Given the description of an element on the screen output the (x, y) to click on. 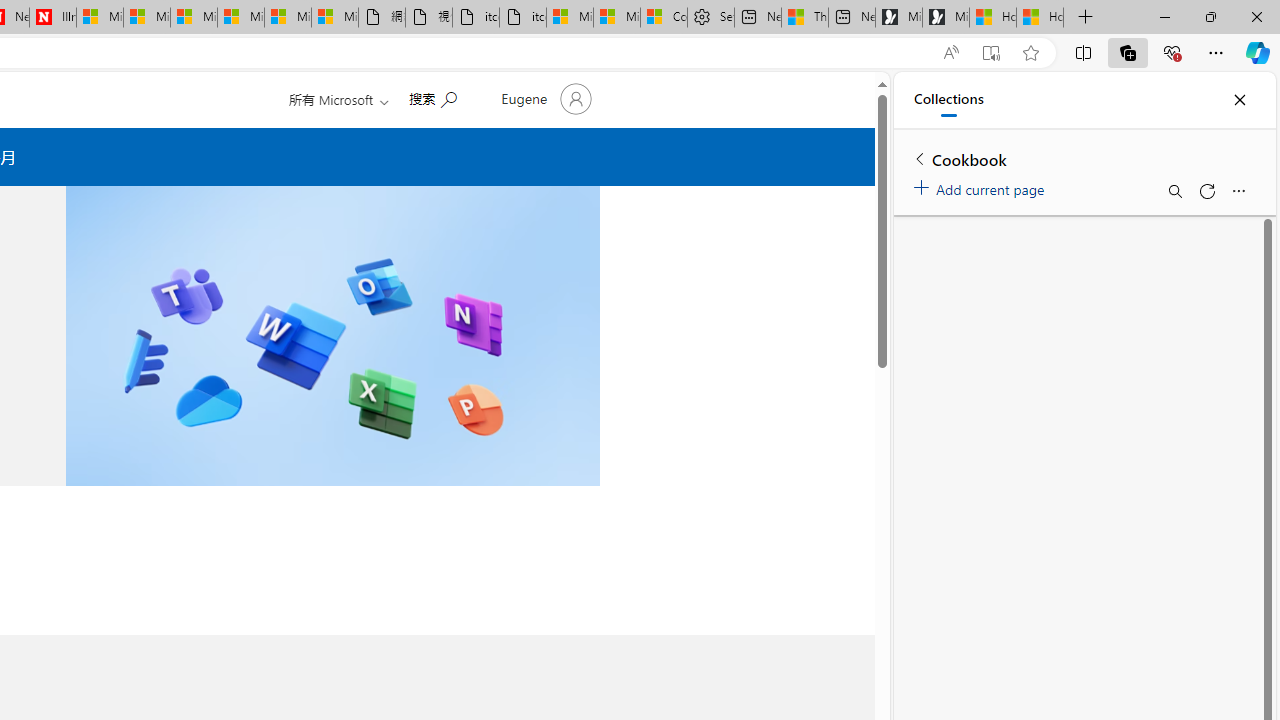
itconcepthk.com/projector_solutions.mp4 (523, 17)
